Given the description of an element on the screen output the (x, y) to click on. 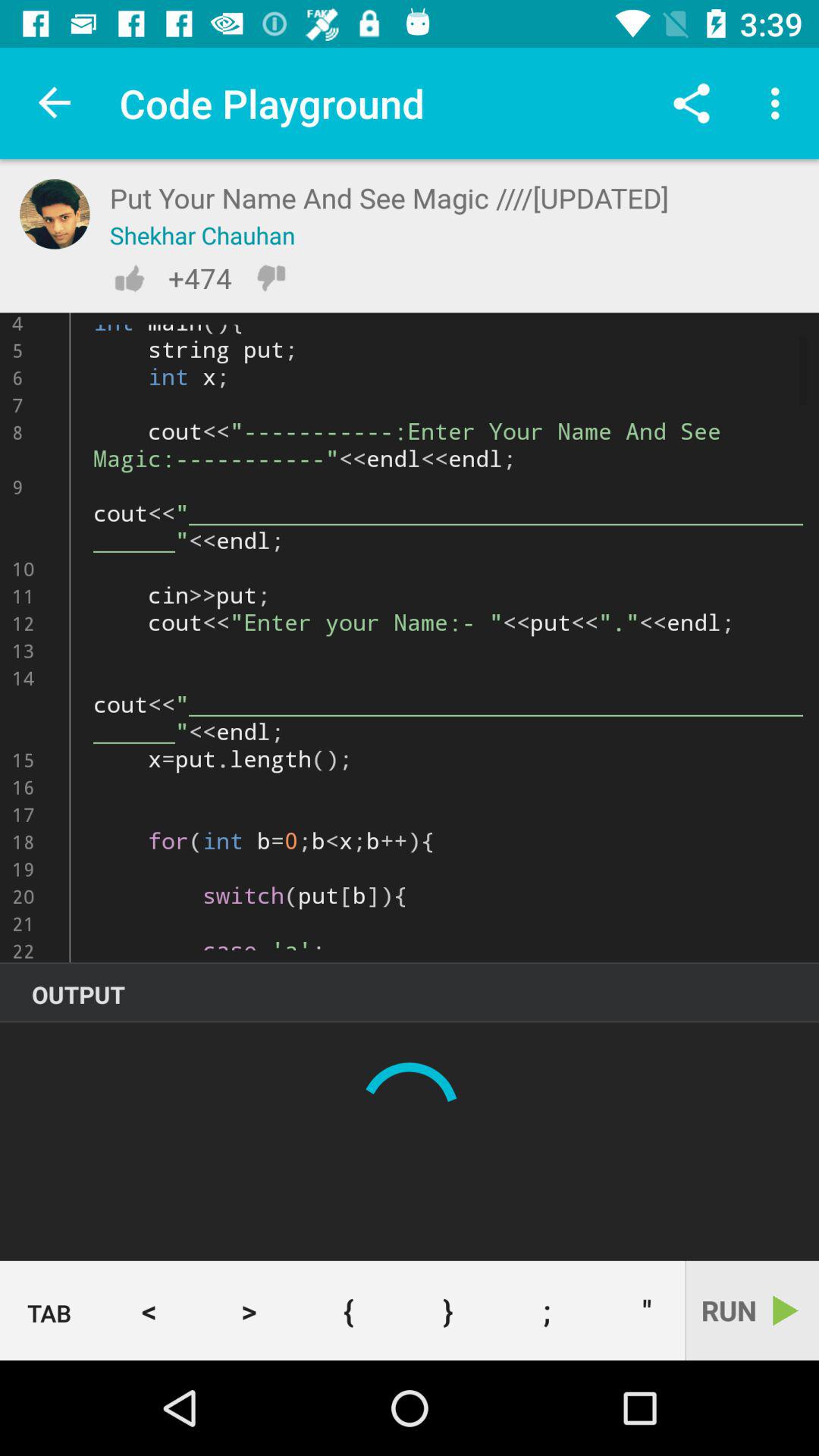
like lesson (129, 277)
